Given the description of an element on the screen output the (x, y) to click on. 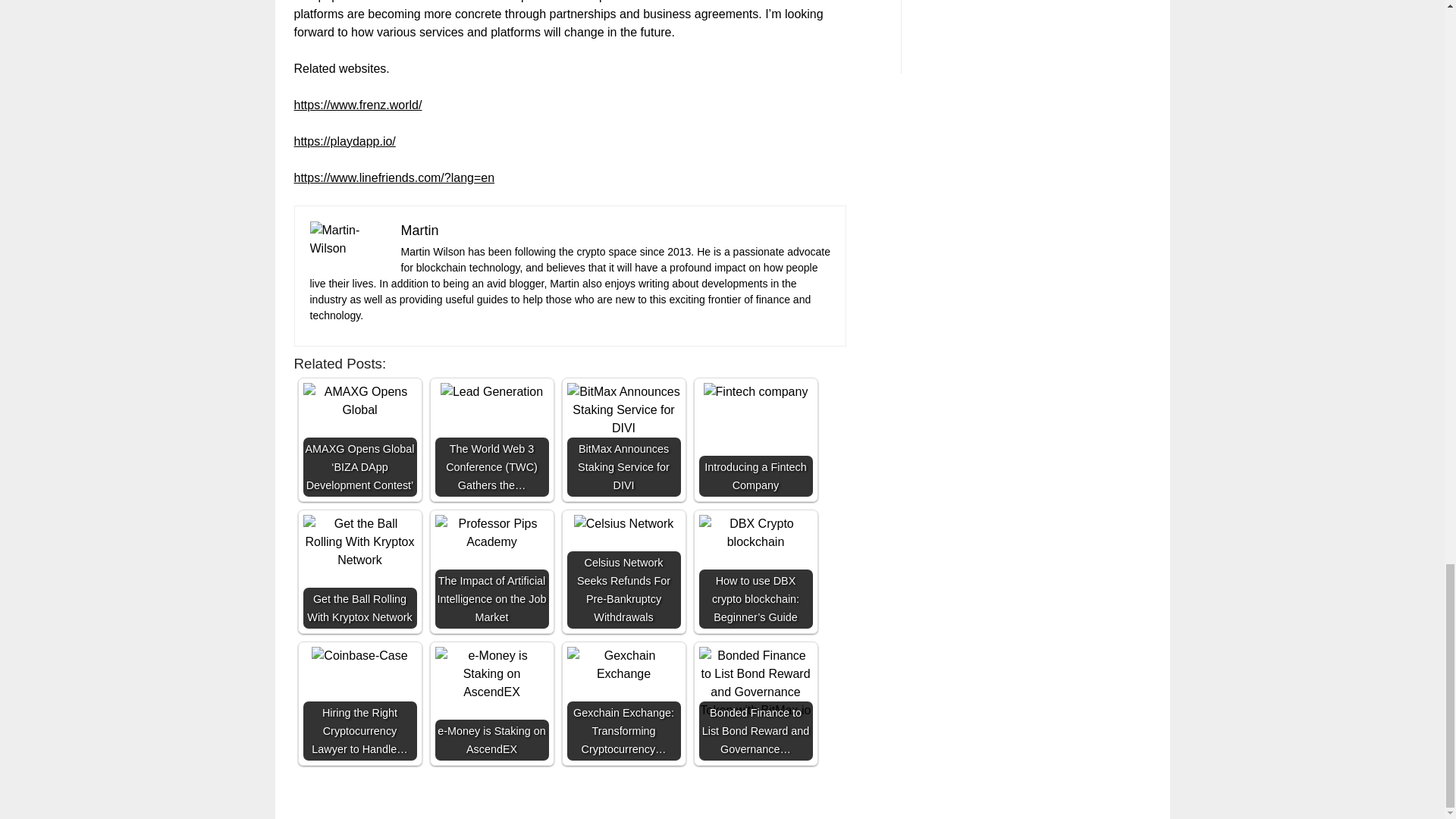
Martin Wilson (346, 239)
The Impact of Artificial Intelligence on the Job Market (491, 533)
Introducing a Fintech Company (755, 439)
Get the Ball Rolling With Kryptox Network (359, 571)
e-Money is Staking on AscendEX (491, 674)
BitMax Announces Staking Service for DIVI (624, 439)
Martin (419, 230)
Introducing a Fintech Company (755, 392)
Celsius Network Seeks Refunds For Pre-Bankruptcy Withdrawals (623, 524)
